Given the description of an element on the screen output the (x, y) to click on. 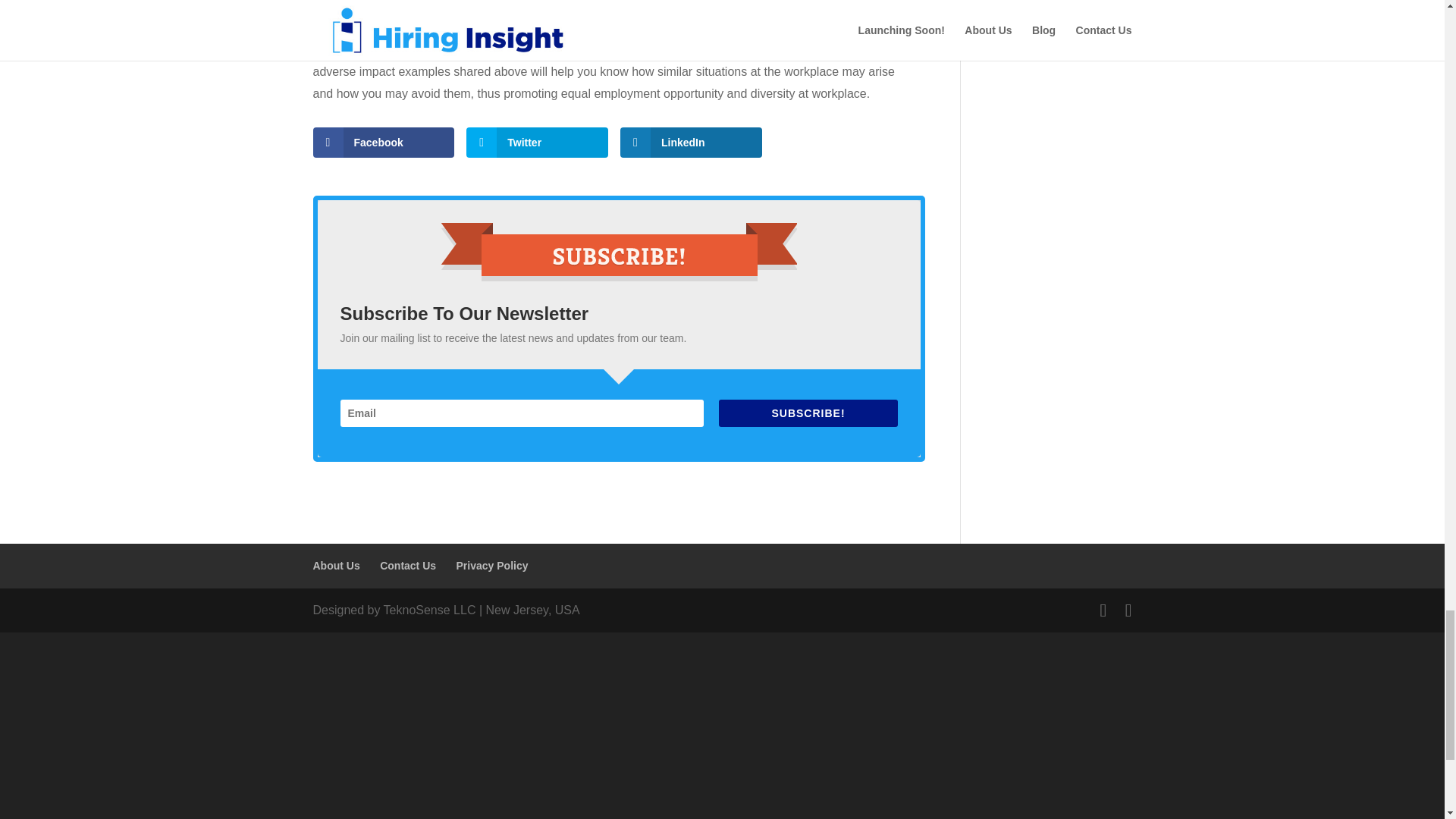
LinkedIn (690, 142)
About Us (336, 565)
Privacy Policy (492, 565)
Contact Us (407, 565)
SUBSCRIBE! (807, 412)
Twitter (536, 142)
Facebook (383, 142)
